Given the description of an element on the screen output the (x, y) to click on. 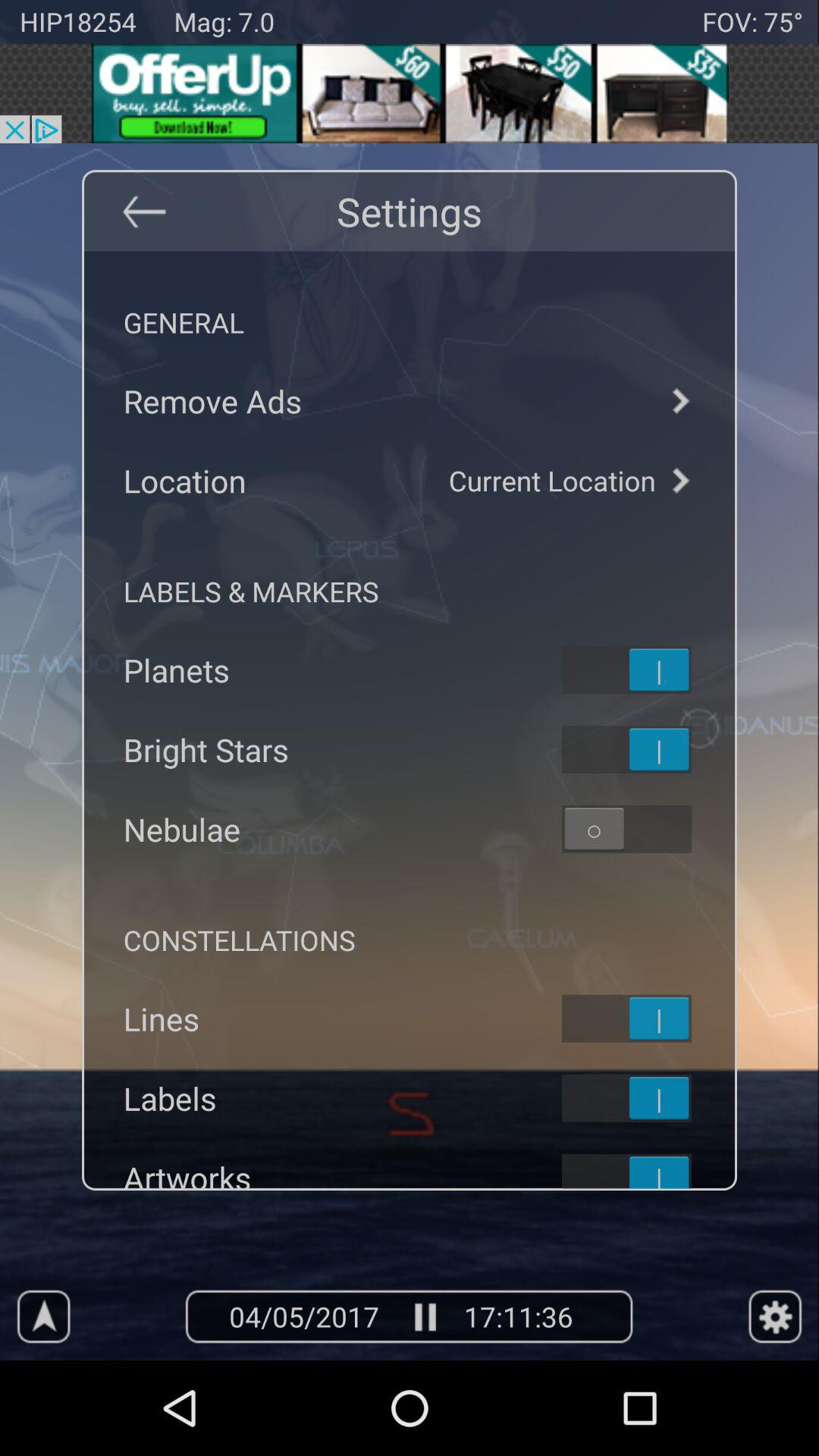
next option (679, 480)
